Given the description of an element on the screen output the (x, y) to click on. 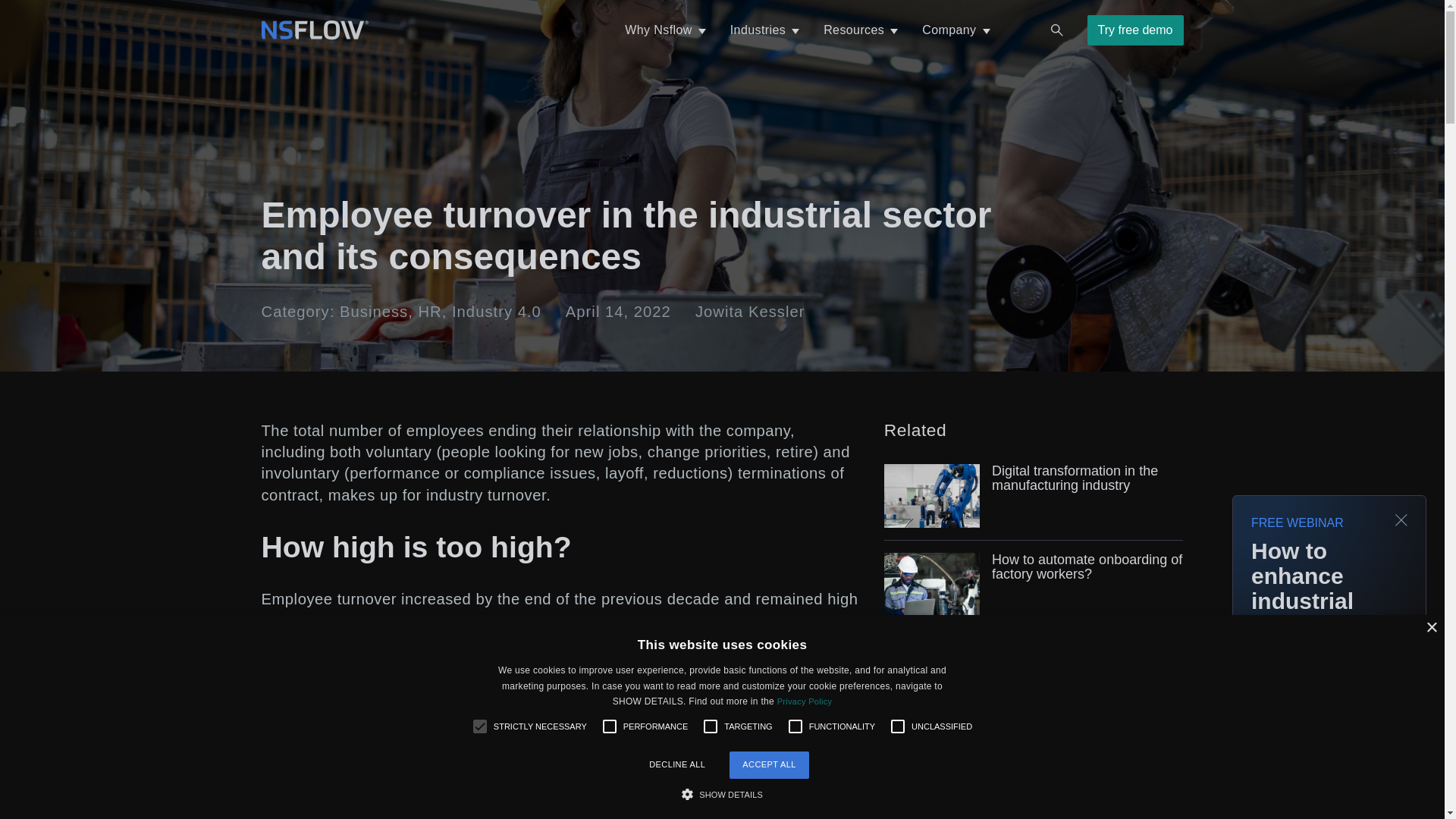
Search... (1056, 30)
